Given the description of an element on the screen output the (x, y) to click on. 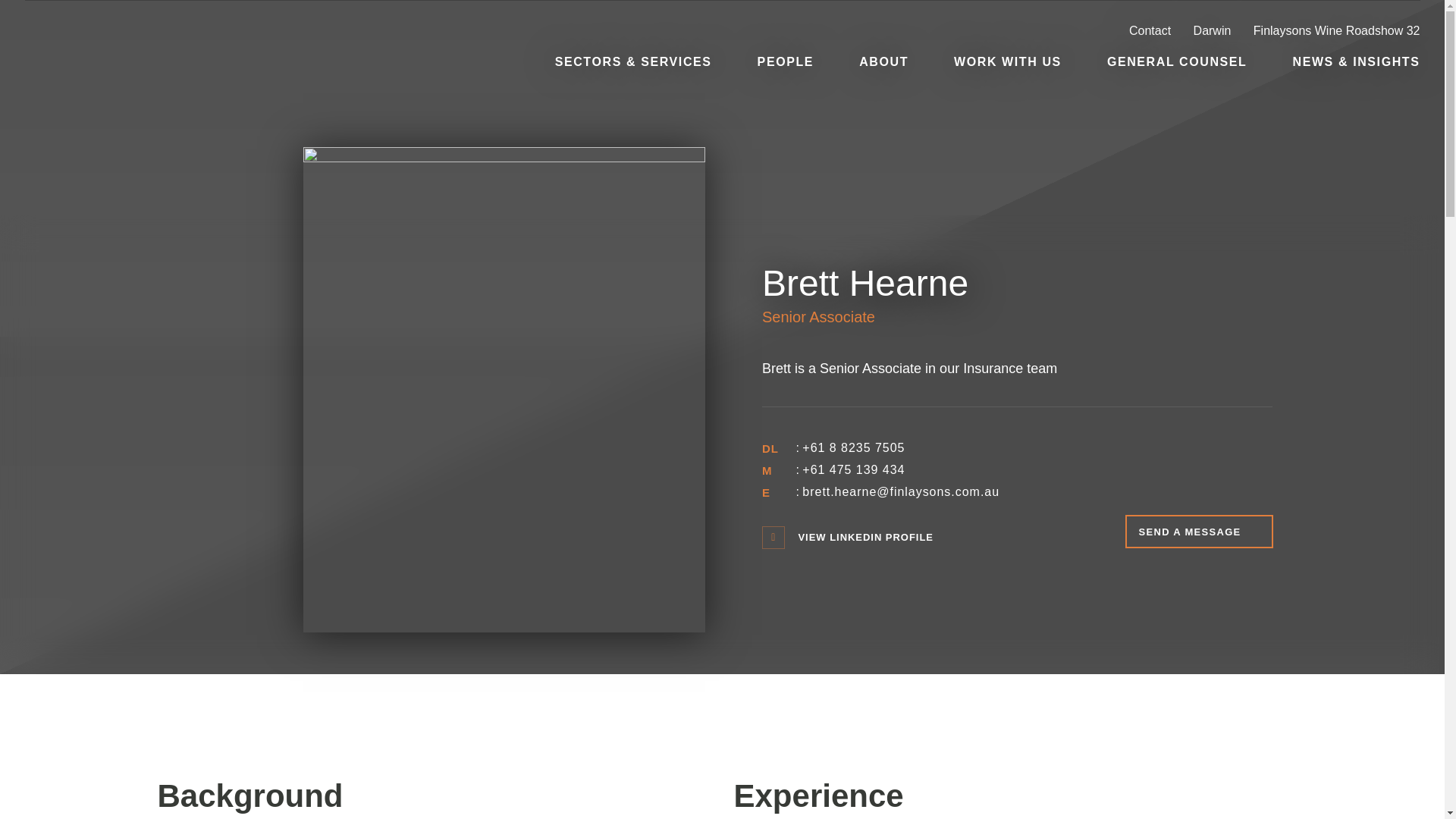
Contact (1159, 31)
WORK WITH US (1007, 61)
Darwin (1221, 31)
Finlaysons Wine Roadshow 32 (1337, 31)
PEOPLE (785, 61)
ABOUT (883, 61)
SEND A MESSAGE (1198, 531)
